Given the description of an element on the screen output the (x, y) to click on. 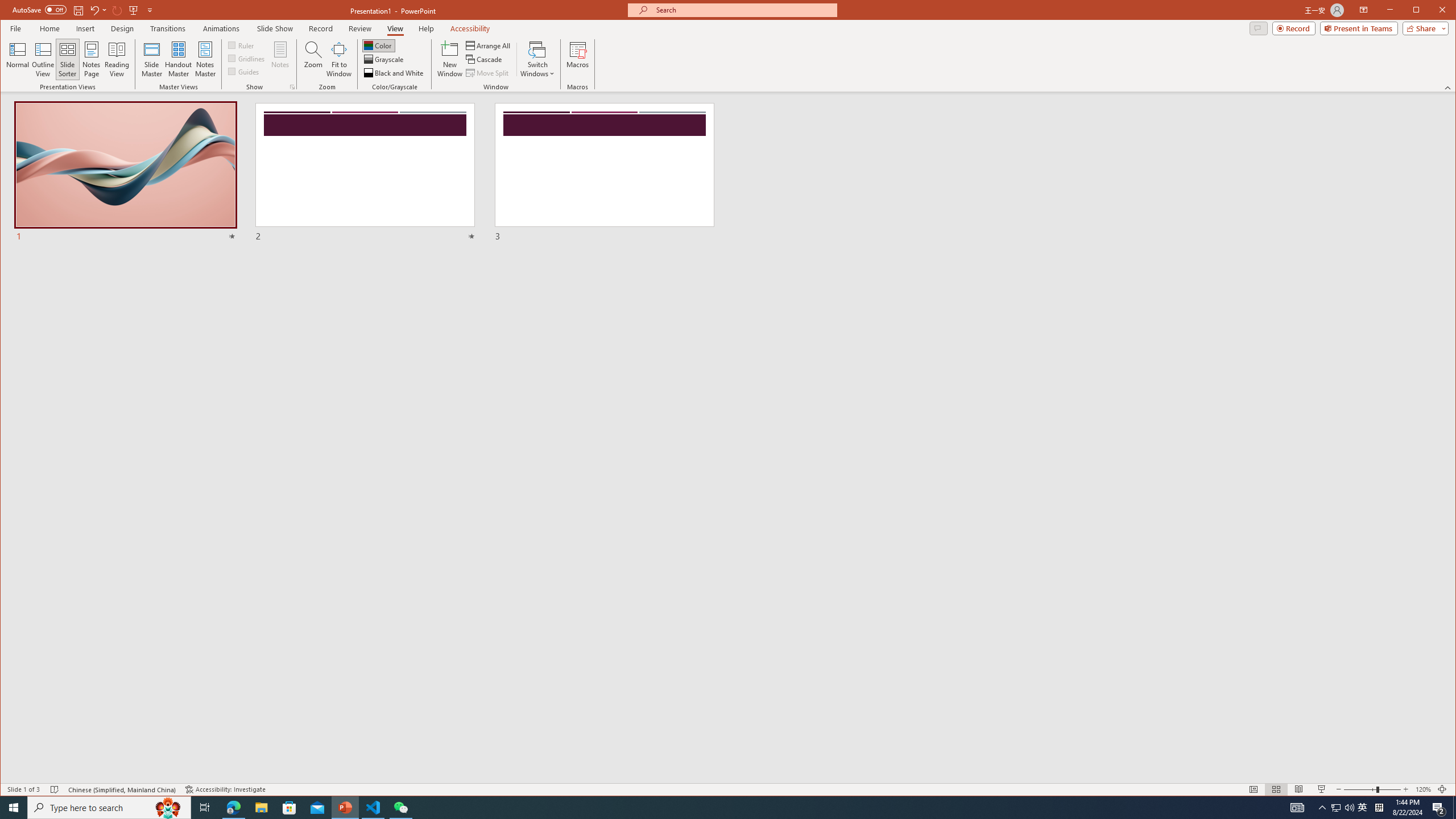
Guides (243, 70)
Fit to Window (338, 59)
Handout Master (178, 59)
Gridlines (246, 57)
